Given the description of an element on the screen output the (x, y) to click on. 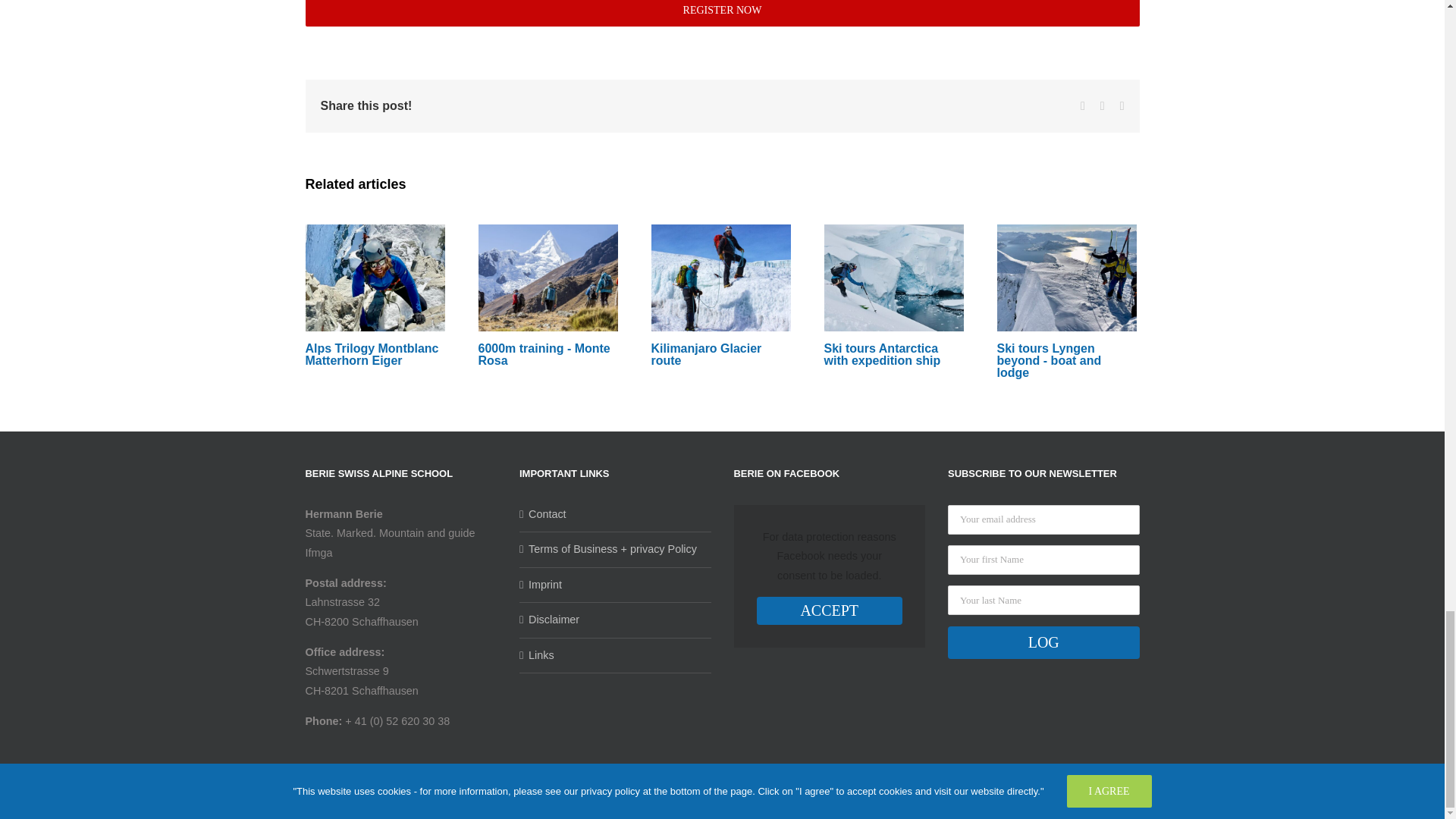
Log (1043, 642)
